Given the description of an element on the screen output the (x, y) to click on. 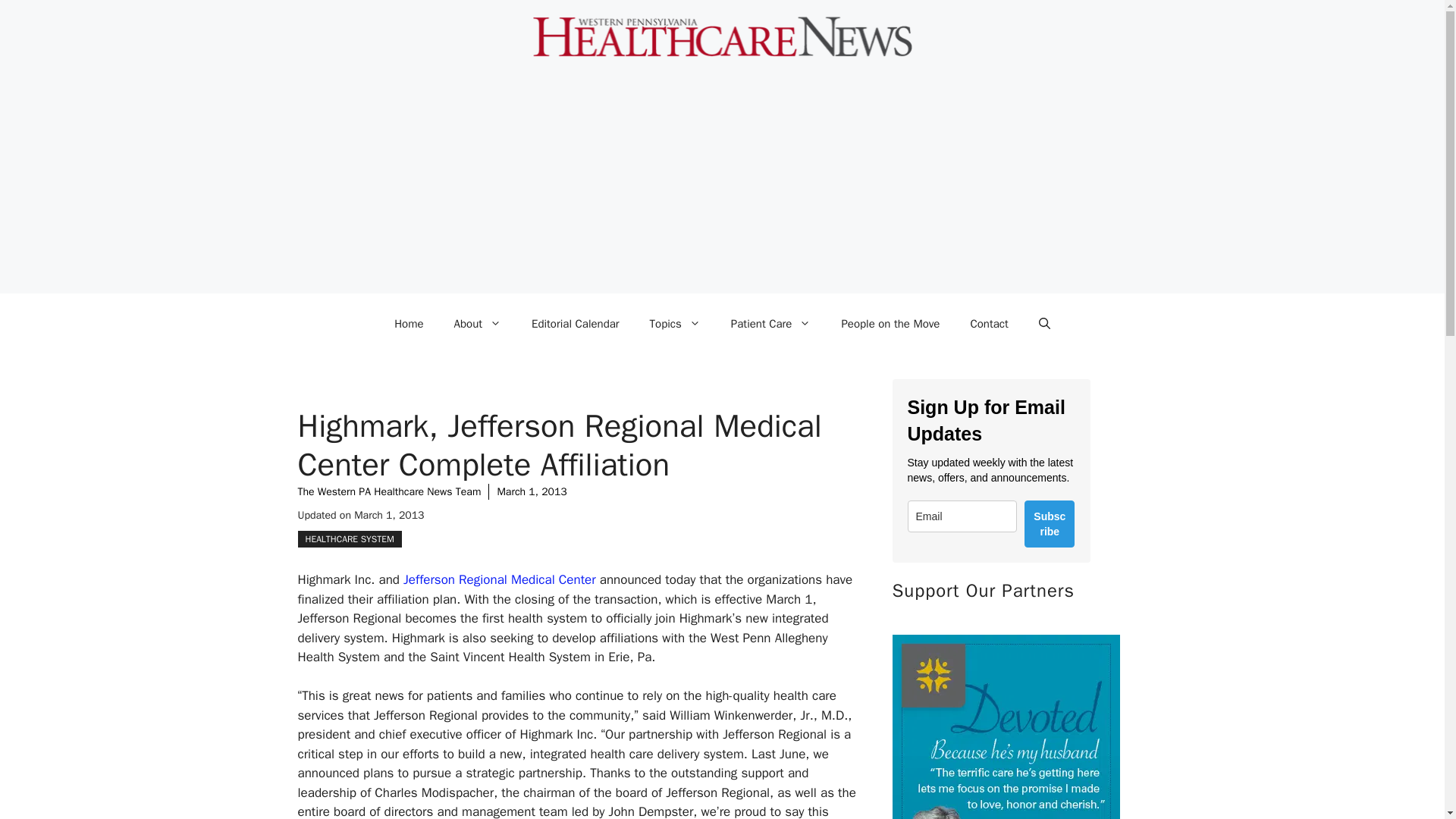
Home (408, 323)
HEALTHCARE SYSTEM (349, 538)
About (477, 323)
Jefferson Regional Medical Center (499, 579)
Patient Care (771, 323)
Editorial Calendar (575, 323)
Contact (989, 323)
People on the Move (890, 323)
Topics (675, 323)
The Western PA Healthcare News Team (388, 491)
